Given the description of an element on the screen output the (x, y) to click on. 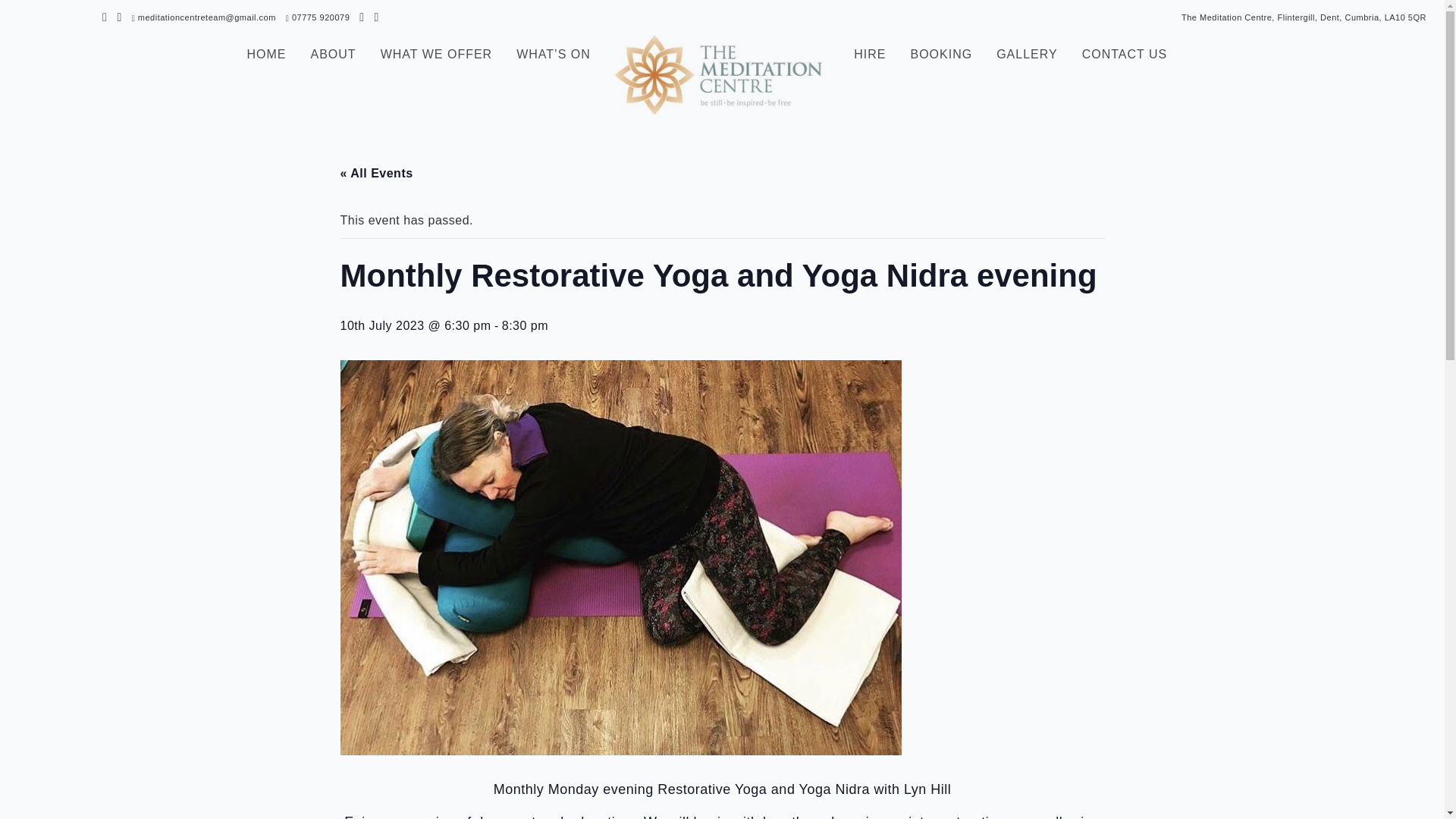
07775 920079 (317, 17)
CONTACT US (1124, 56)
BOOKING (941, 56)
GALLERY (1026, 56)
WHAT WE OFFER (436, 56)
ABOUT (333, 56)
